Given the description of an element on the screen output the (x, y) to click on. 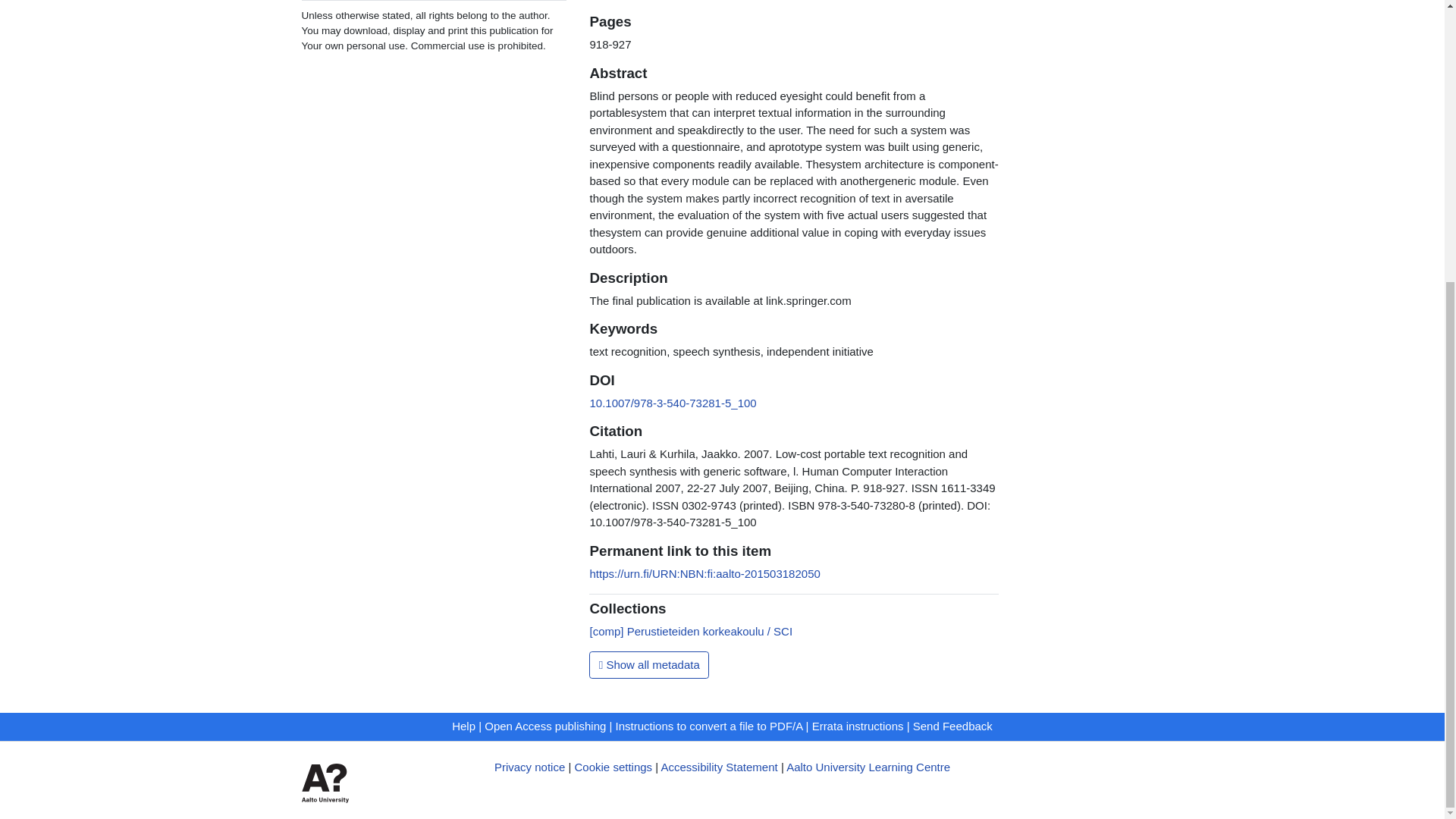
Errata instructions (858, 725)
Accessibility Statement (719, 766)
Help (463, 725)
Open Access publishing (544, 725)
Show all metadata (649, 664)
Aalto University Learning Centre (868, 766)
Send Feedback (952, 725)
Cookie settings (613, 766)
Privacy notice (529, 766)
